Given the description of an element on the screen output the (x, y) to click on. 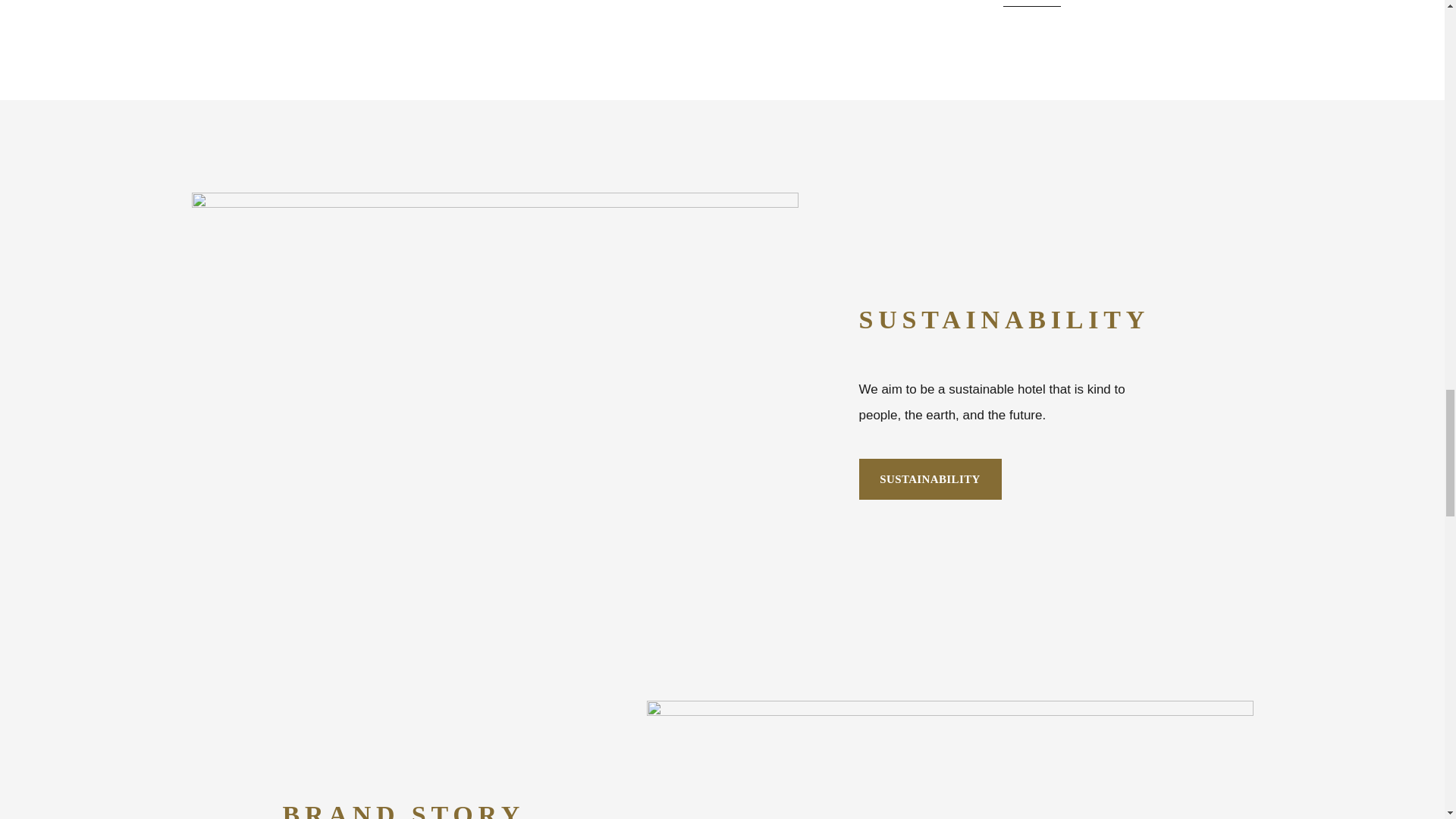
SUSTAINABILITY (930, 478)
